Given the description of an element on the screen output the (x, y) to click on. 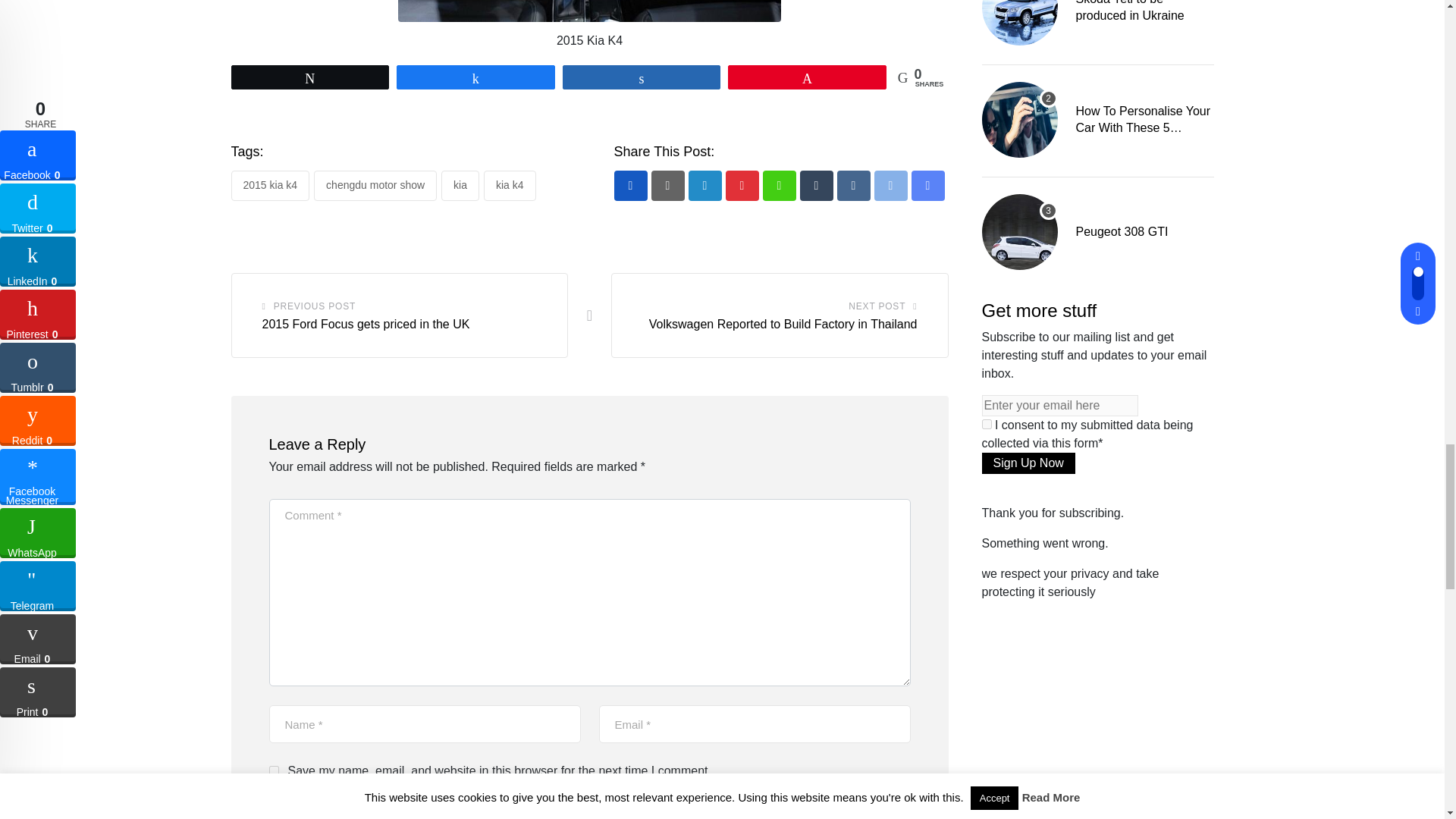
Post Comment (340, 805)
on (986, 424)
Sign Up Now (1027, 463)
yes (272, 770)
